Given the description of an element on the screen output the (x, y) to click on. 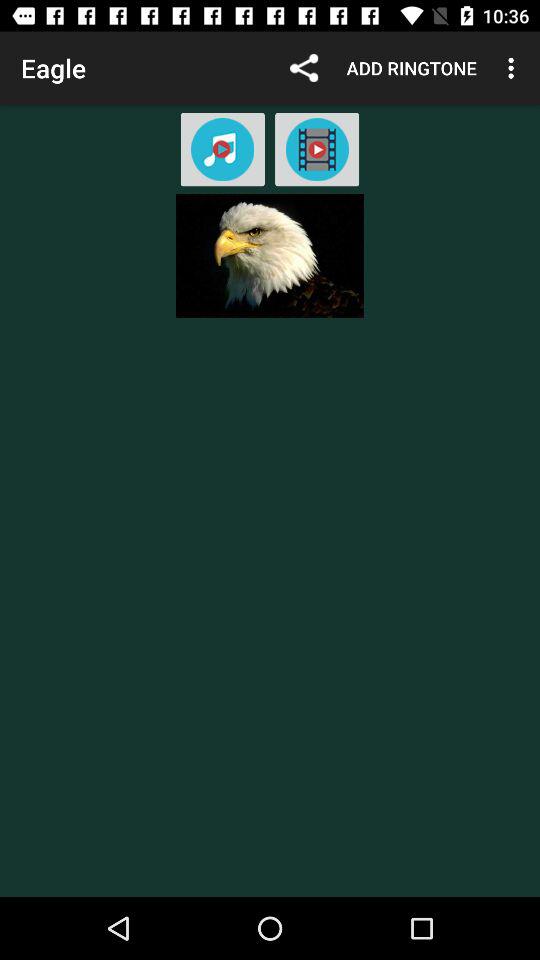
turn on the icon next to add ringtone icon (304, 67)
